Given the description of an element on the screen output the (x, y) to click on. 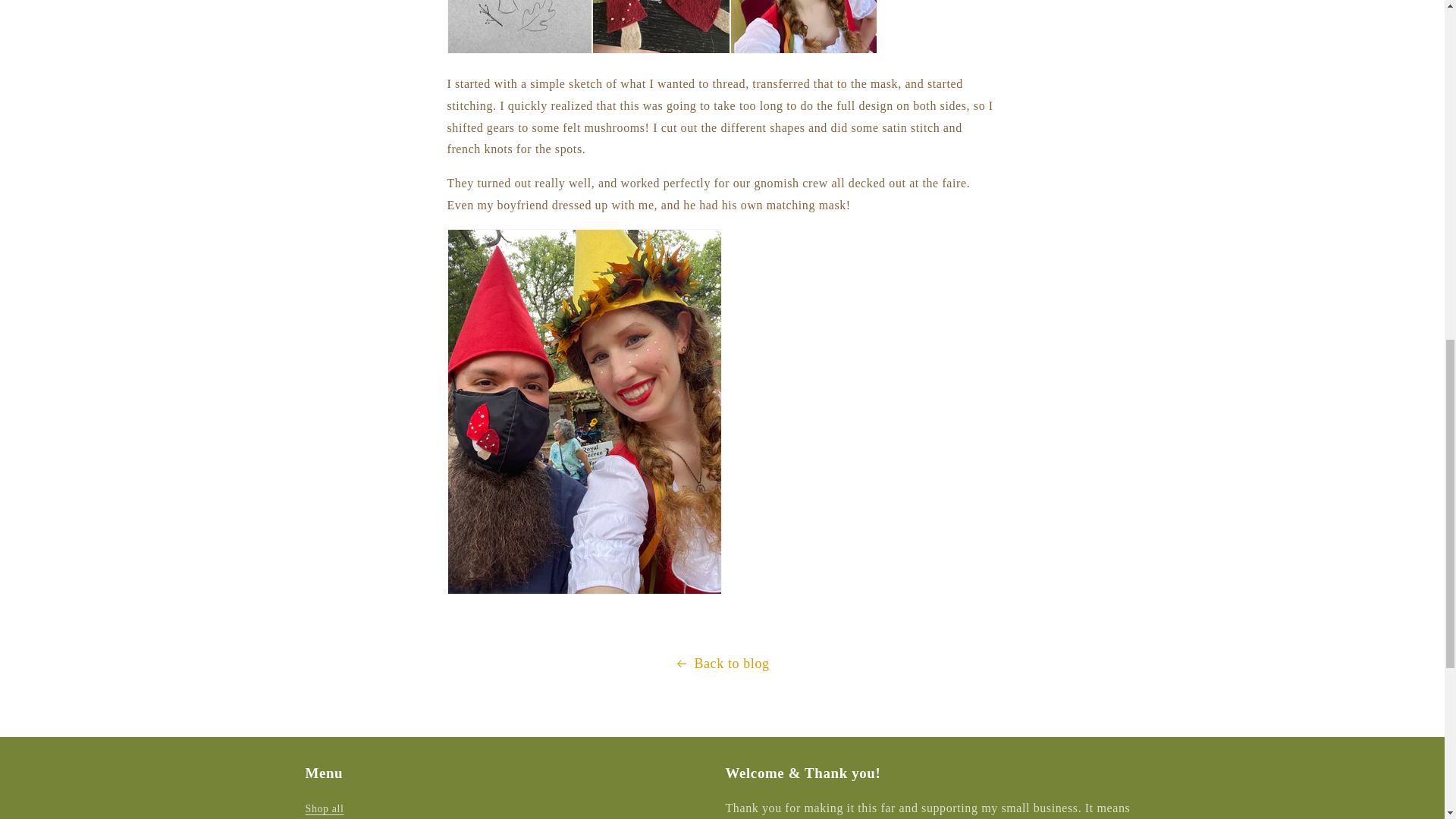
Shop all (323, 809)
